Given the description of an element on the screen output the (x, y) to click on. 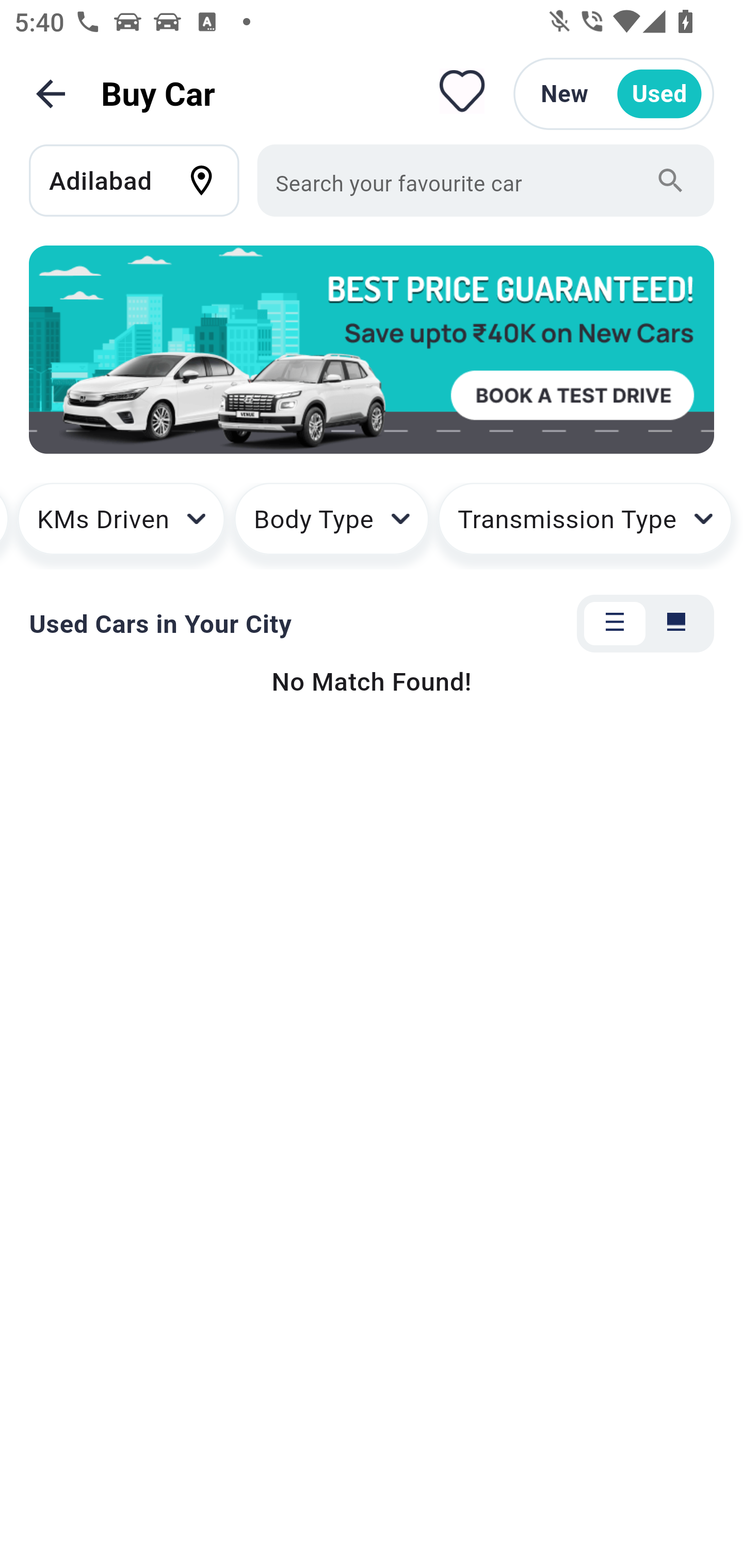
Back (50, 93)
New (564, 93)
Used (659, 93)
Adilabad (142, 180)
KMs Driven (121, 525)
Body Type (331, 525)
Transmission Type (584, 525)
Tab 1 of 2 (614, 624)
Tab 2 of 2 (675, 624)
